Given the description of an element on the screen output the (x, y) to click on. 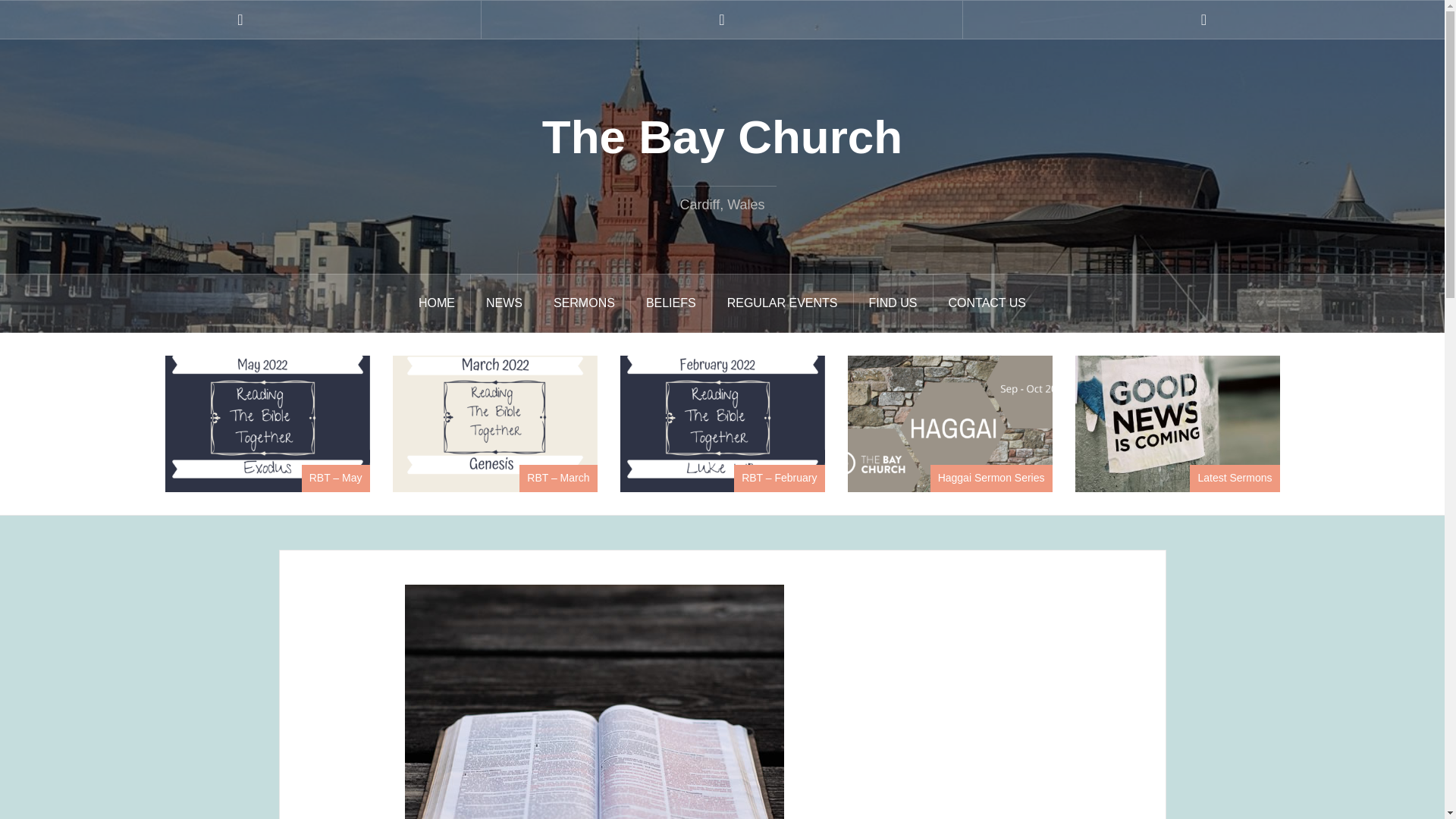
CONTACT US (987, 303)
The Bay Church (721, 136)
REGULAR EVENTS (782, 303)
NEWS (504, 303)
HOME (436, 303)
BELIEFS (670, 303)
Twitter (721, 19)
FIND US (893, 303)
Latest Sermons (1234, 478)
Facebook (240, 19)
